Given the description of an element on the screen output the (x, y) to click on. 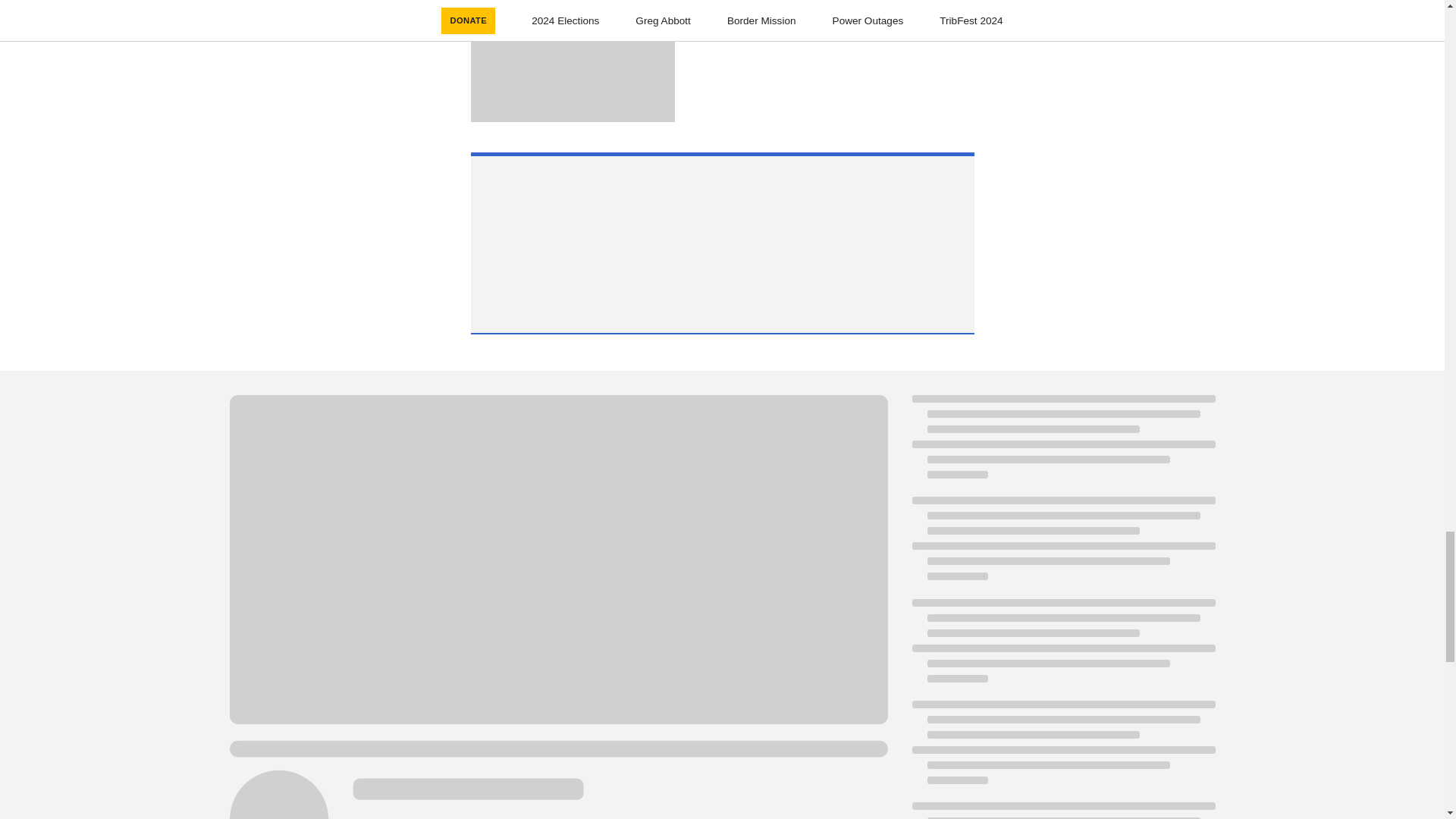
Loading indicator (724, 36)
Loading indicator (1062, 443)
Loading indicator (830, 13)
